Given the description of an element on the screen output the (x, y) to click on. 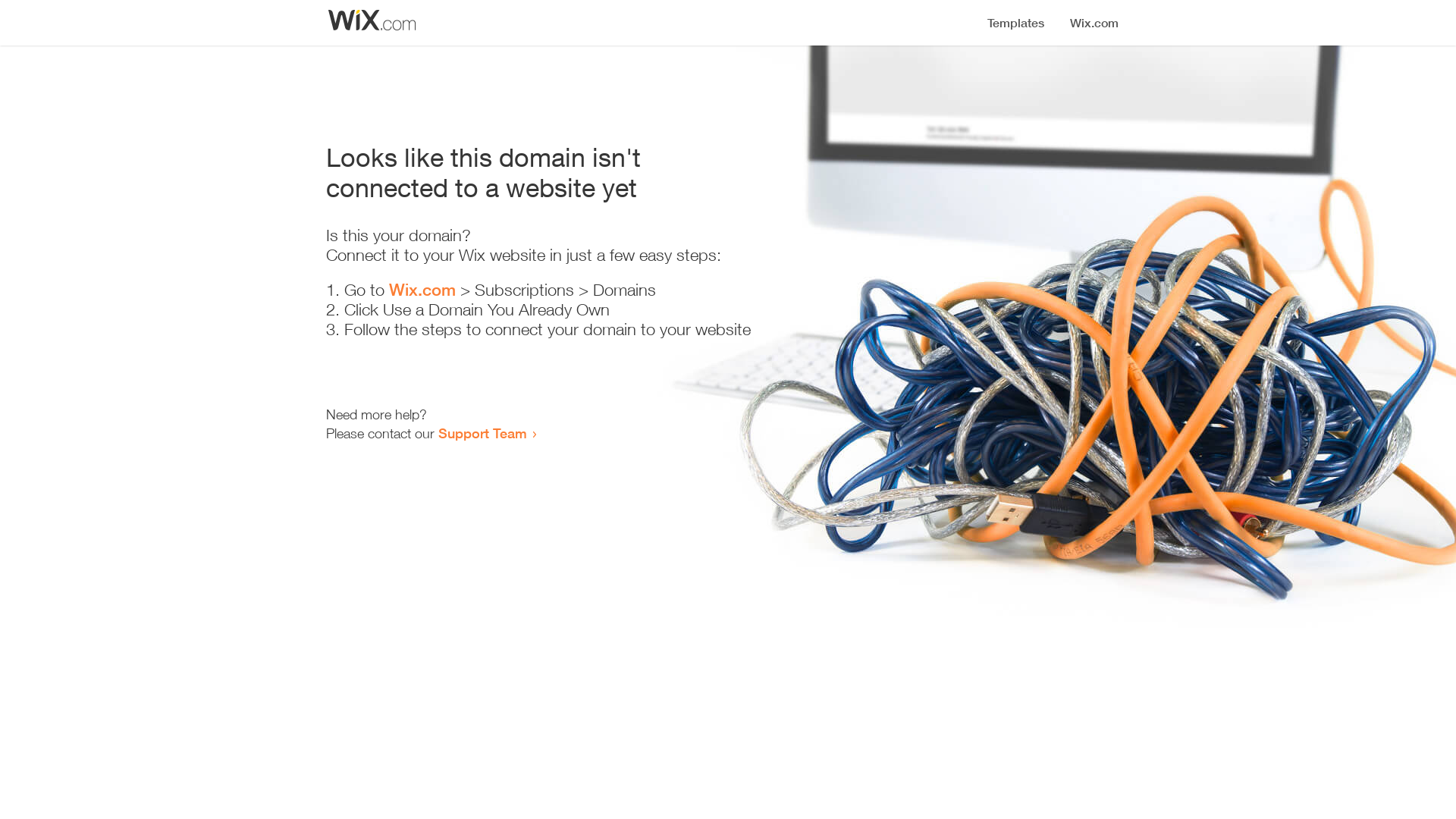
Wix.com Element type: text (422, 289)
Support Team Element type: text (482, 432)
